Given the description of an element on the screen output the (x, y) to click on. 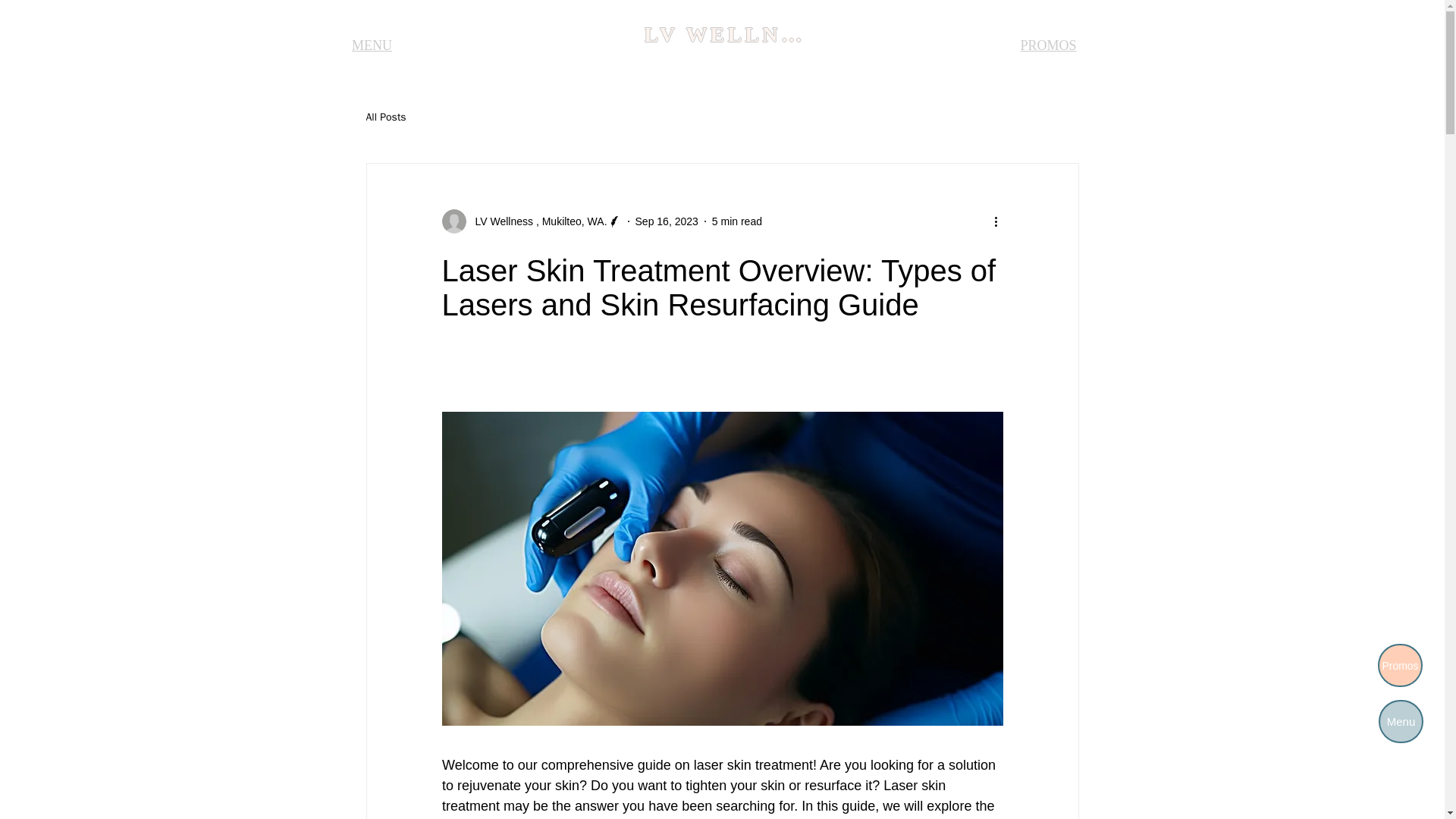
LV WELLNESS (730, 34)
Promos (1399, 665)
LV Wellness , Mukilteo, WA. (531, 221)
Menu (1400, 721)
LV Wellness , Mukilteo, WA. (536, 221)
MENU (371, 45)
Sep 16, 2023 (666, 221)
All Posts (385, 117)
PROMOS (1048, 45)
5 min read (736, 221)
